Given the description of an element on the screen output the (x, y) to click on. 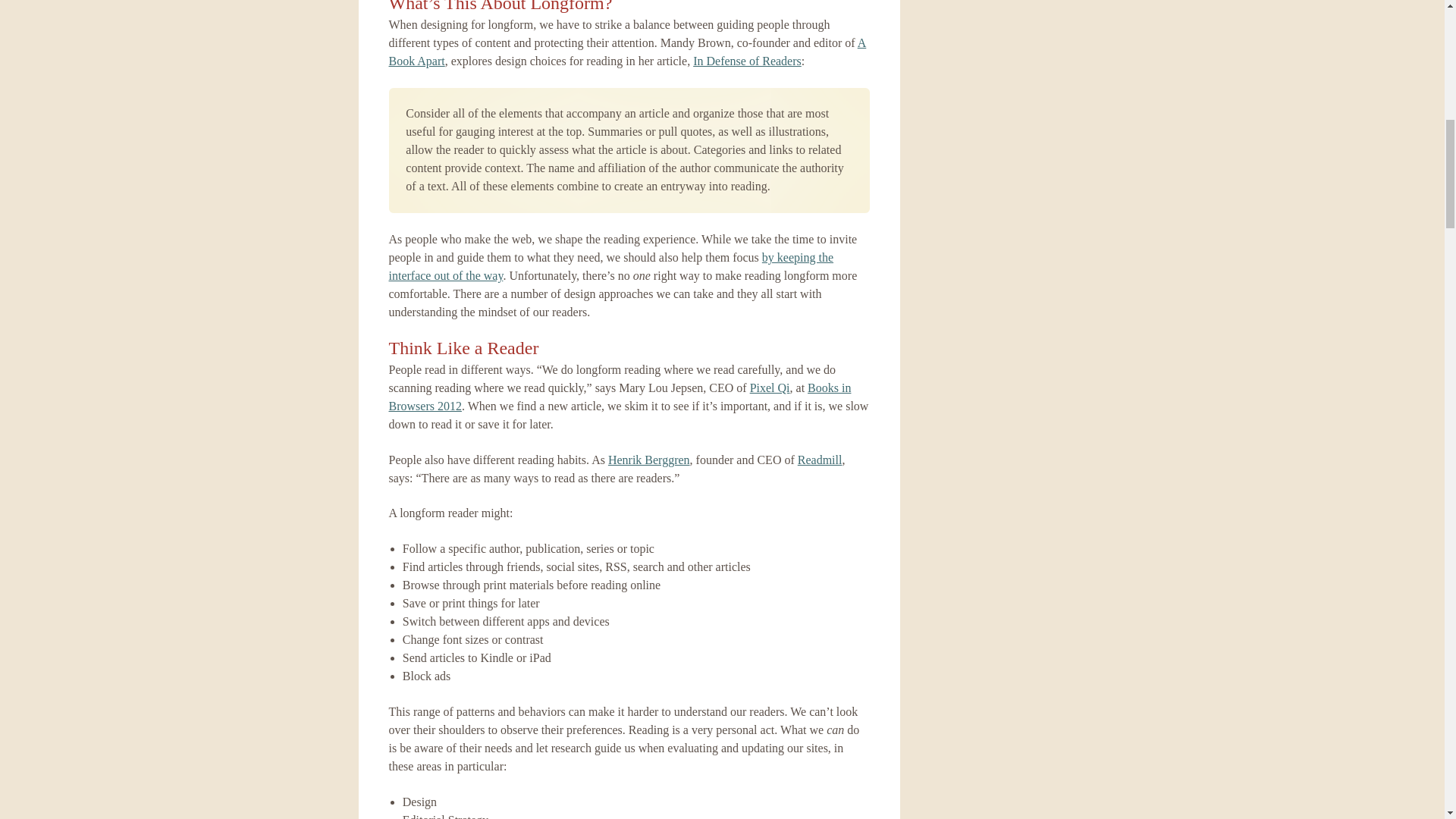
Pixel Qi (769, 387)
In Defense of Readers (747, 60)
Readmill (820, 459)
A Book Apart (627, 51)
Henrik Berggren (649, 459)
Books in Browsers 2012 (619, 396)
by keeping the interface out of the way (610, 265)
